Given the description of an element on the screen output the (x, y) to click on. 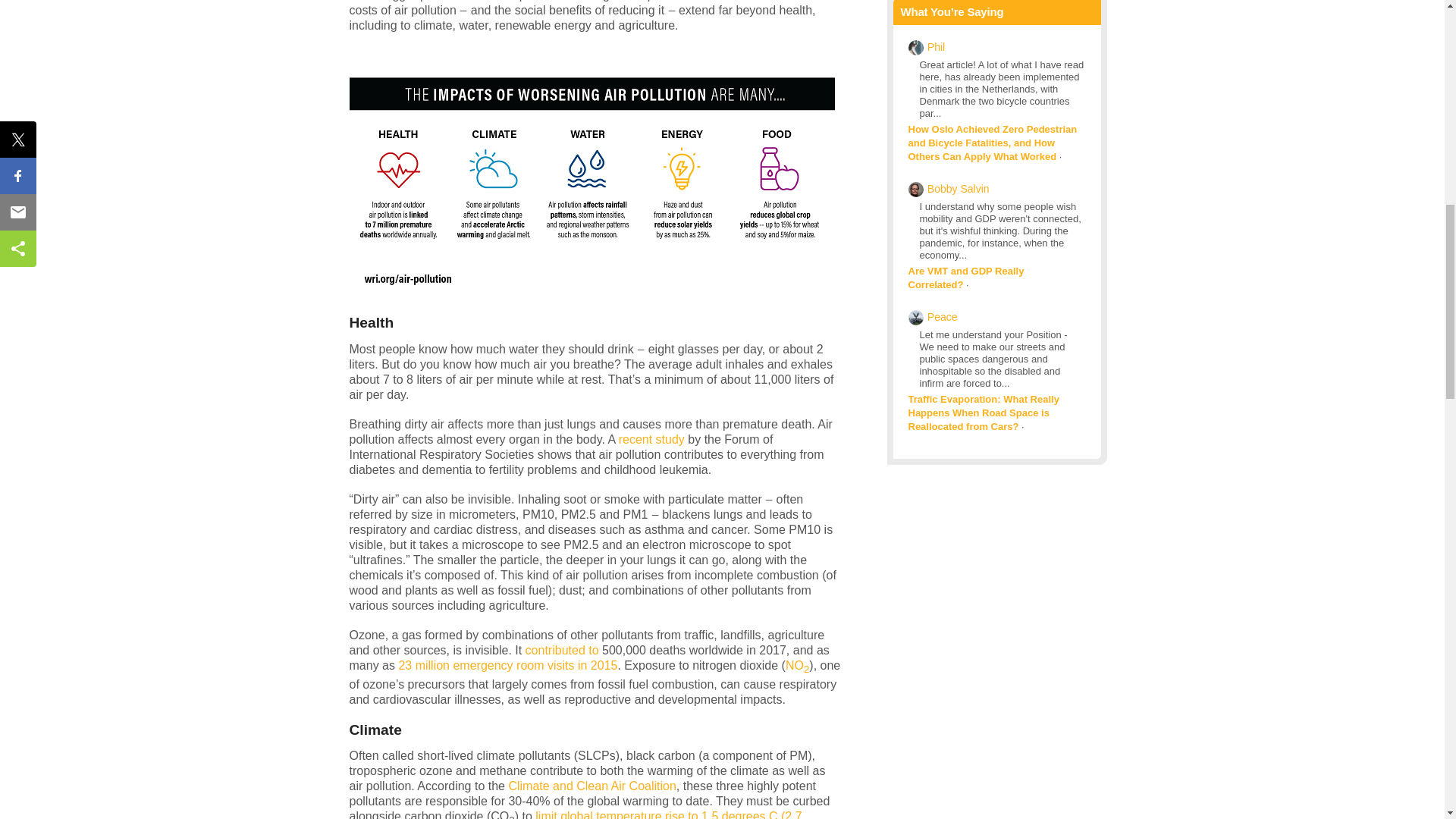
Are VMT and GDP Really Correlated? (966, 277)
Phil (935, 47)
Peace (942, 316)
Bobby Salvin (958, 188)
